Given the description of an element on the screen output the (x, y) to click on. 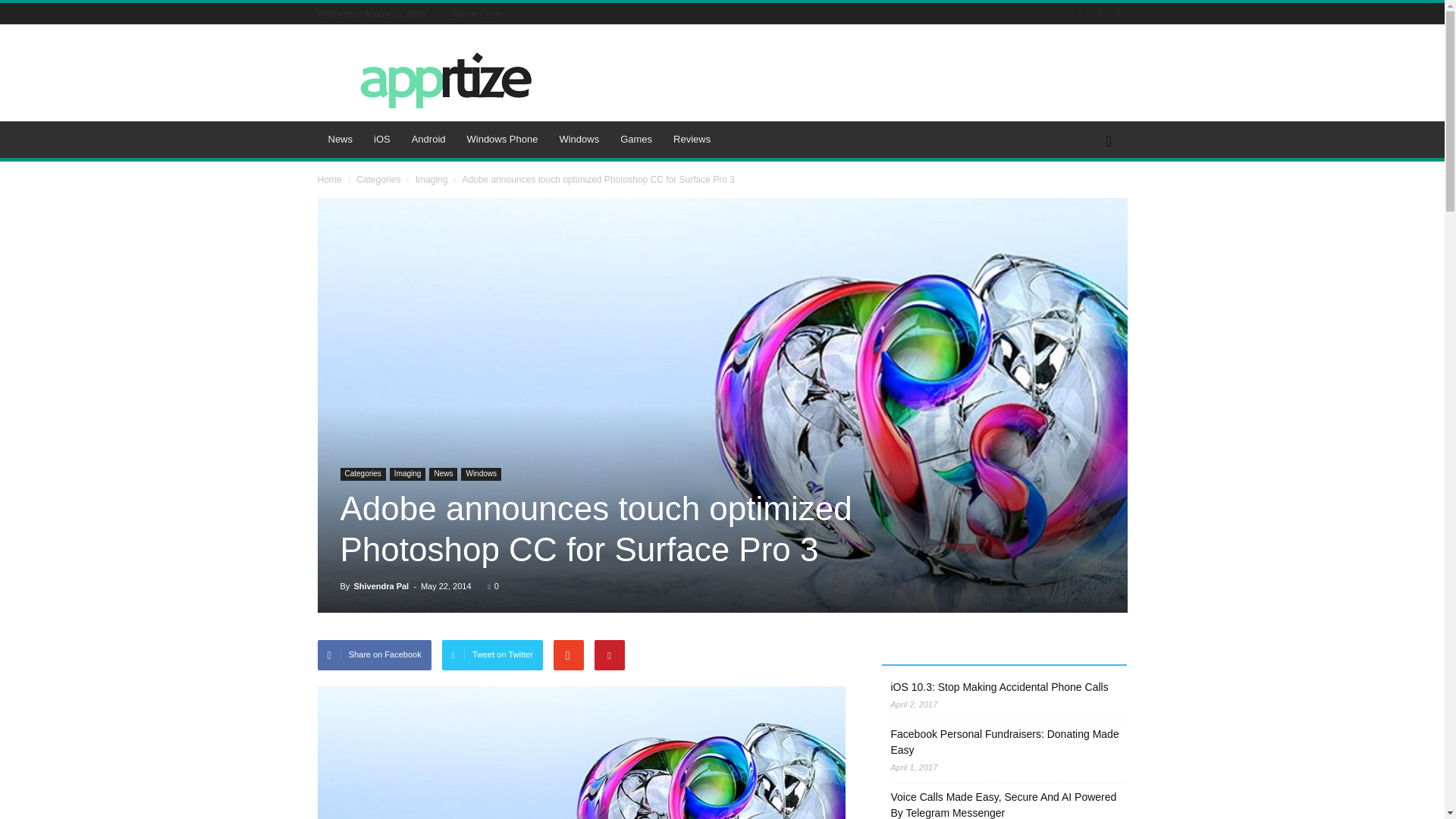
Home (330, 179)
Imaging (431, 179)
Android (429, 139)
Windows (579, 139)
Reviews (691, 139)
Categories (379, 179)
Windows Phone (502, 139)
iOS (381, 139)
Advertisement (850, 79)
View all posts in Categories (379, 179)
